Given the description of an element on the screen output the (x, y) to click on. 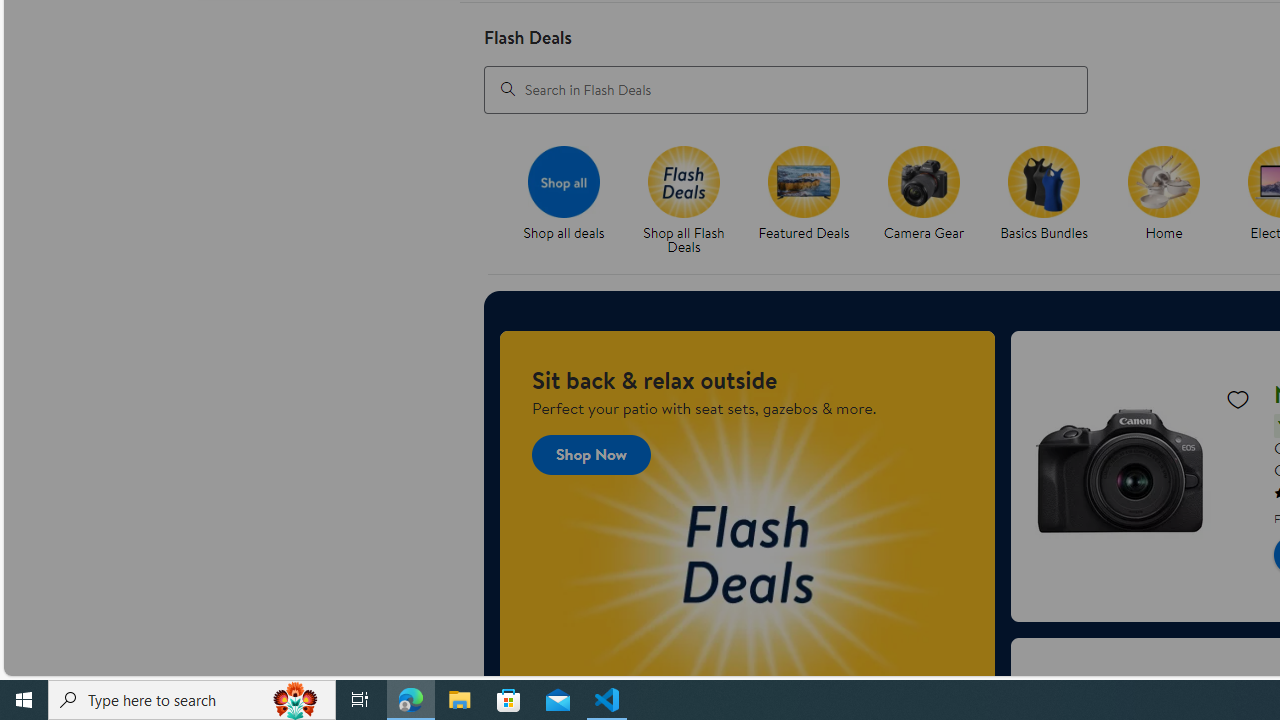
Shop Now (591, 454)
Basics Bundles Basics Bundles (1043, 194)
Shop all Shop all deals (563, 194)
Basics Bundles (1052, 200)
Basics Bundles (1044, 181)
Featured Deals (811, 200)
